Given the description of an element on the screen output the (x, y) to click on. 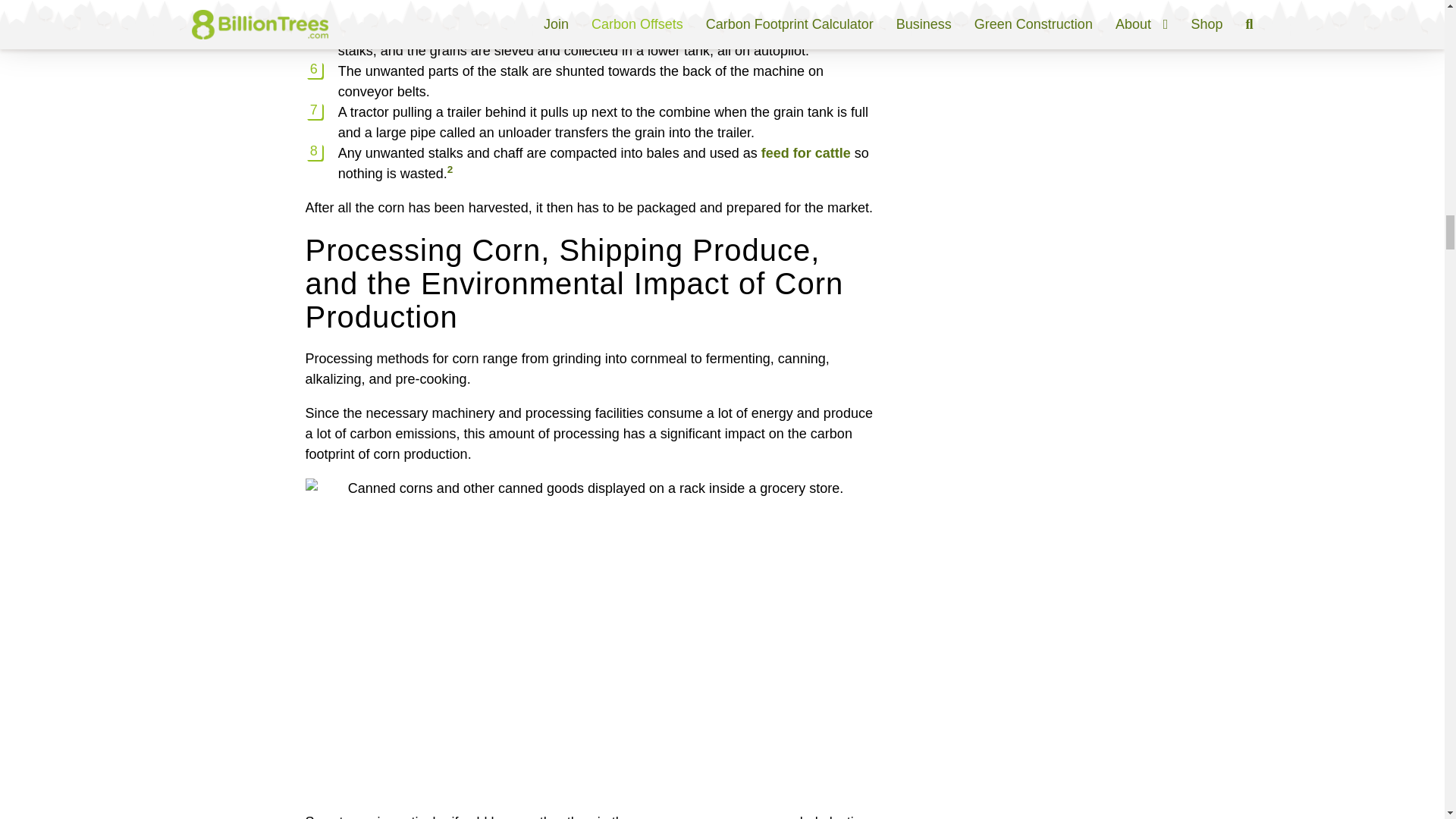
feed for cattle (805, 152)
